Given the description of an element on the screen output the (x, y) to click on. 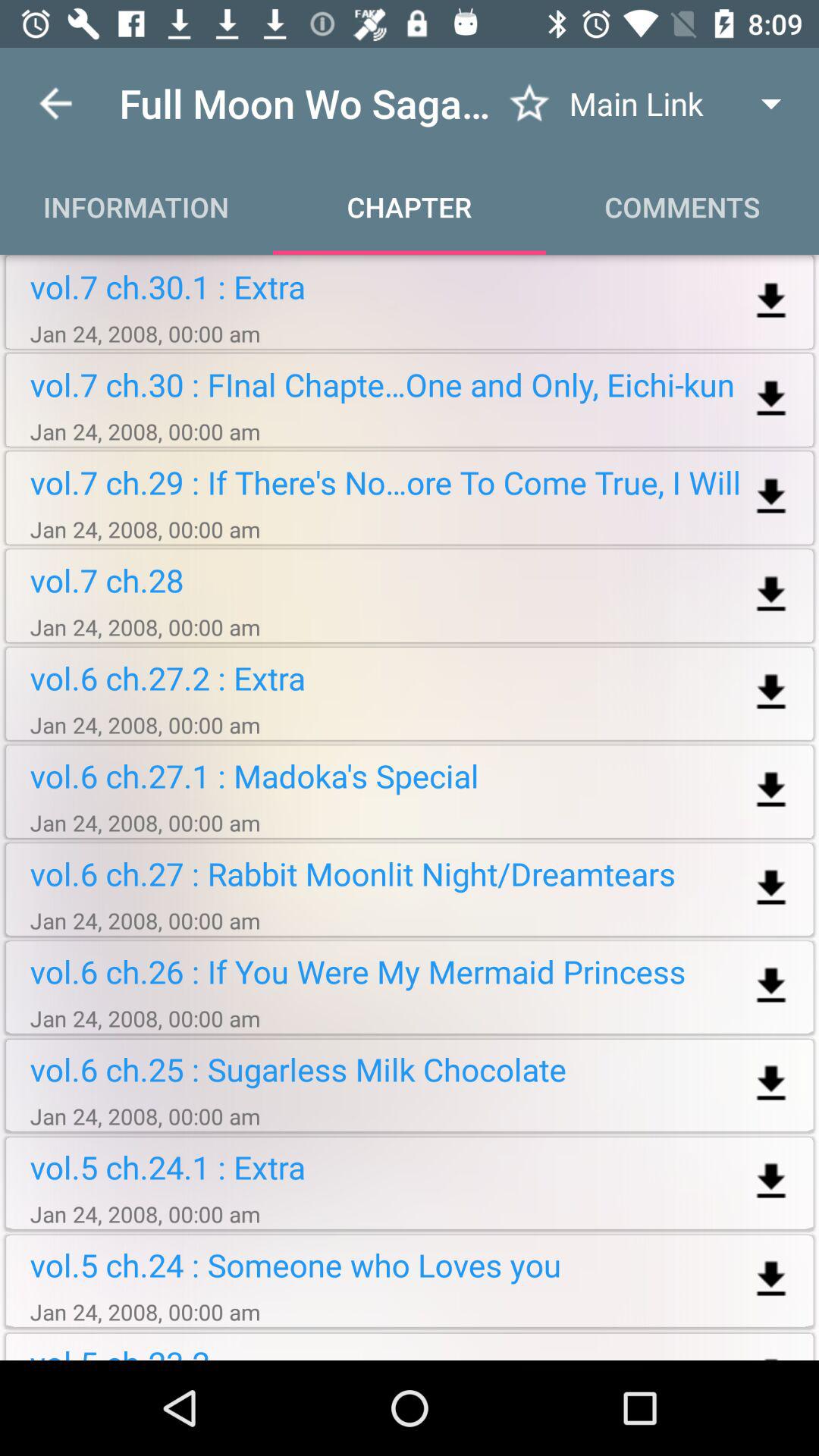
add to favorites (529, 103)
